Given the description of an element on the screen output the (x, y) to click on. 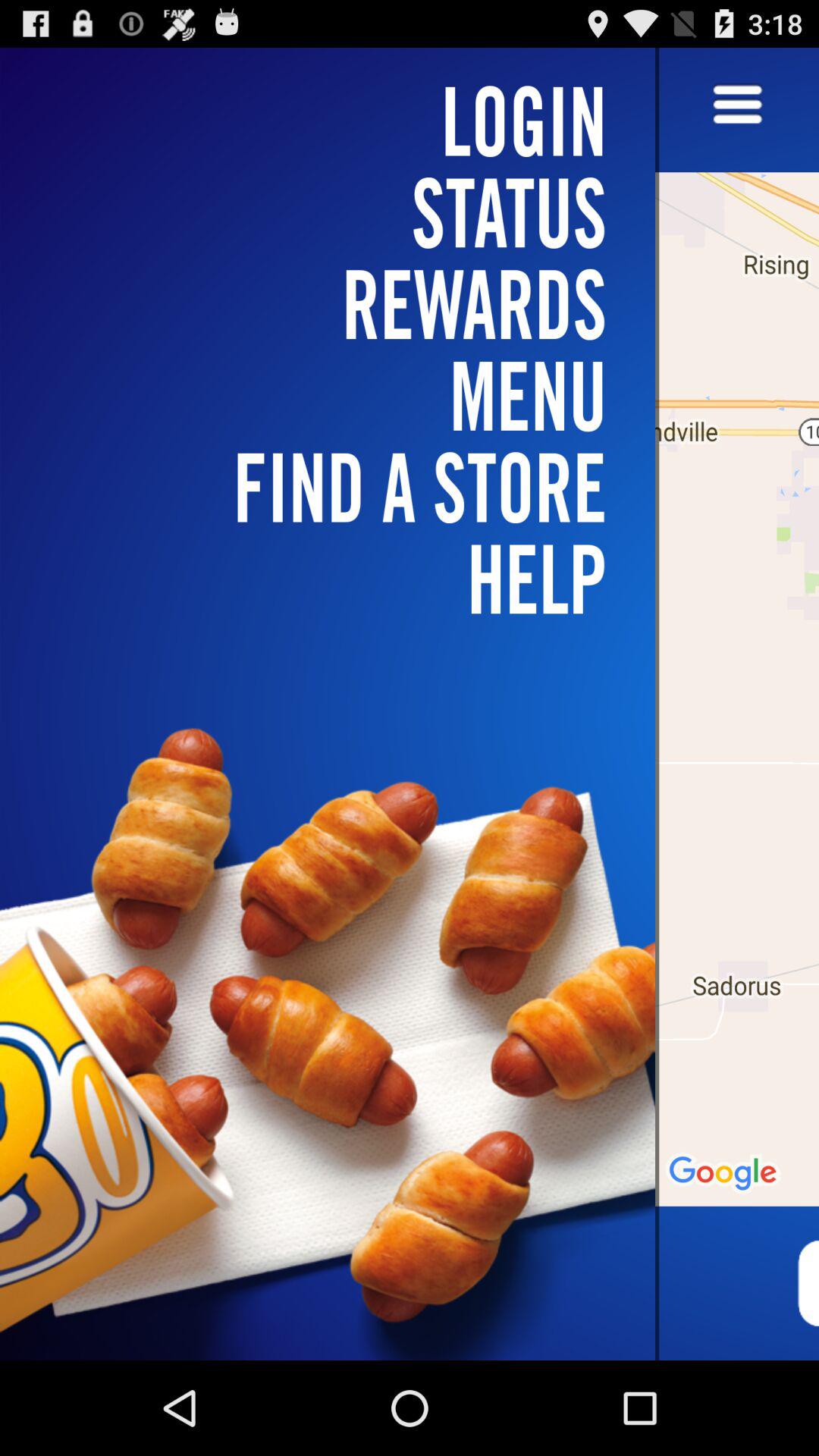
turn on the help item (336, 578)
